Given the description of an element on the screen output the (x, y) to click on. 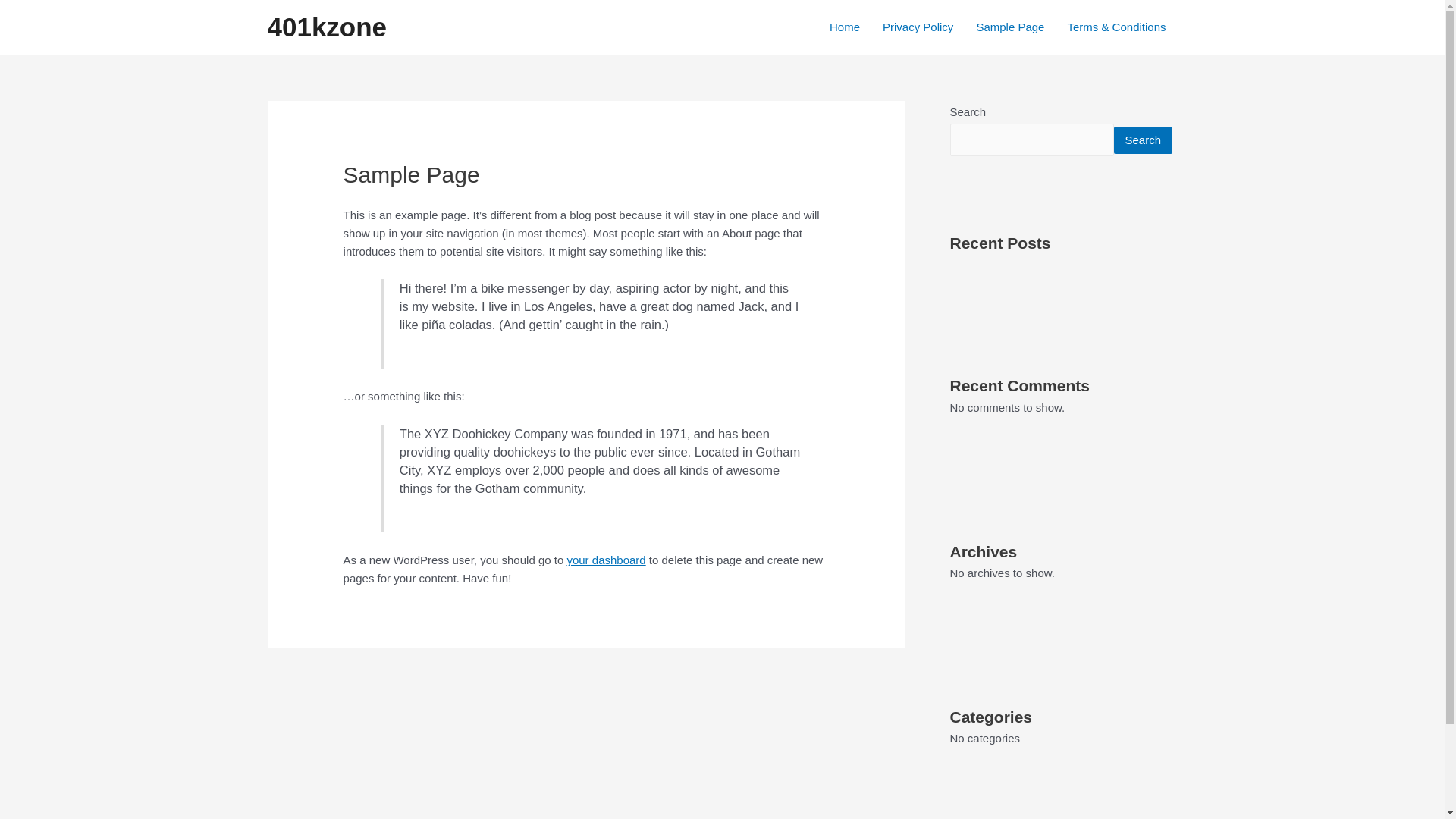
401kzone Element type: text (326, 26)
Terms & Conditions Element type: text (1115, 26)
Home Element type: text (844, 26)
Search Element type: text (1142, 139)
Privacy Policy Element type: text (917, 26)
your dashboard Element type: text (605, 559)
Sample Page Element type: text (1009, 26)
